Given the description of an element on the screen output the (x, y) to click on. 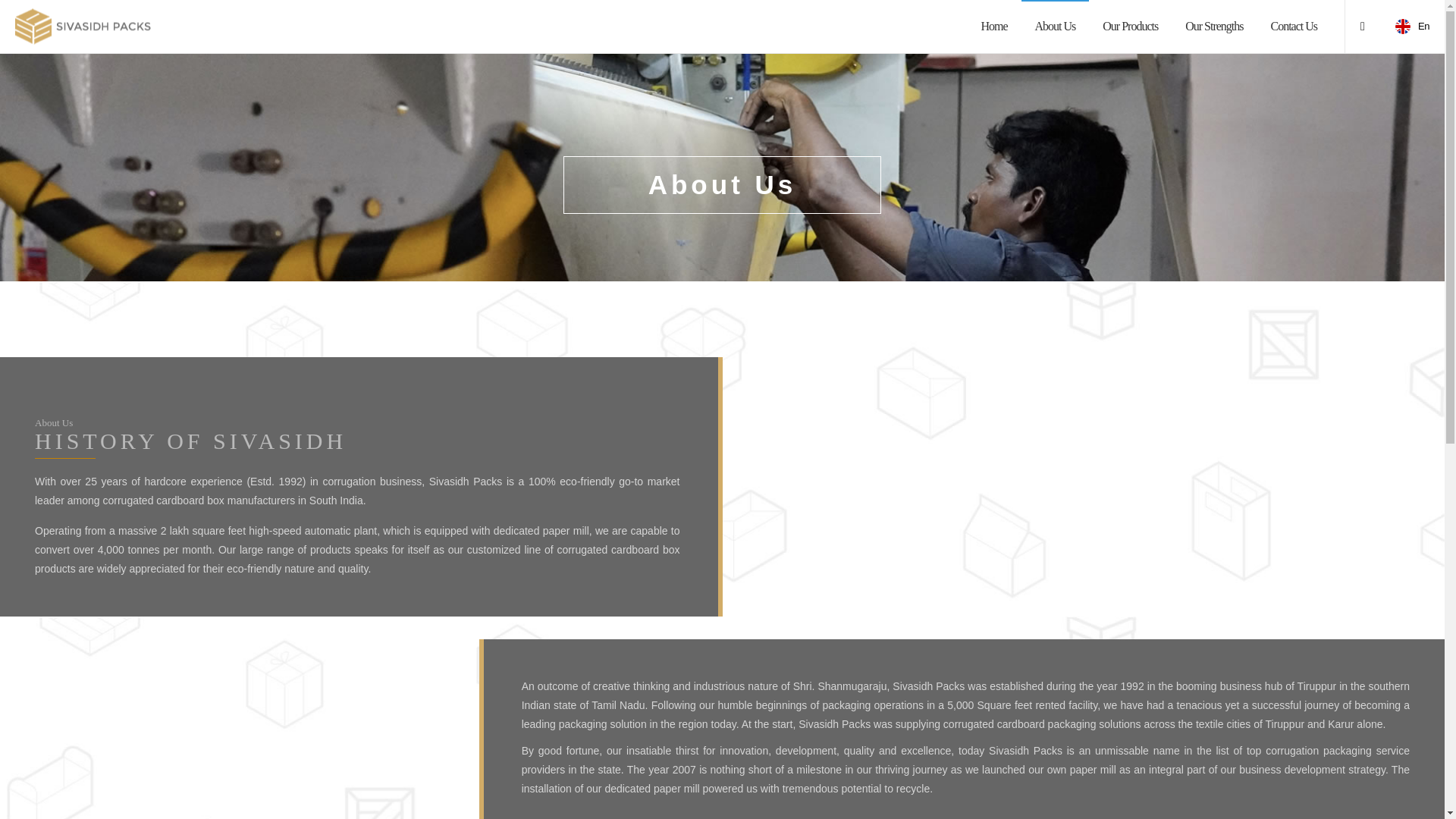
Our Products (1129, 26)
Search (1072, 413)
Our Strengths (1214, 26)
Site logo (82, 27)
